Given the description of an element on the screen output the (x, y) to click on. 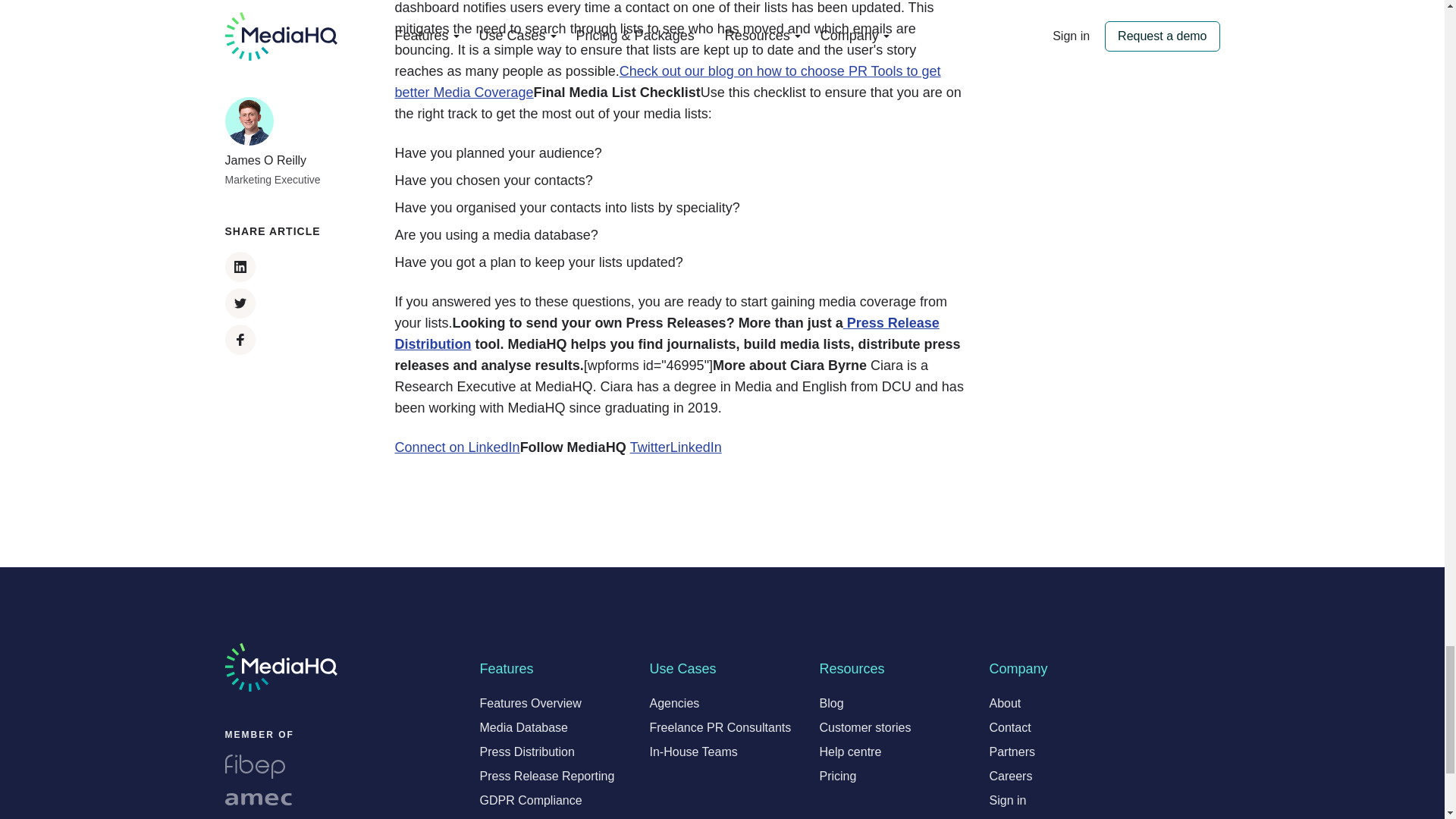
Twitter (649, 447)
Connect on LinkedIn (456, 447)
LinkedIn (695, 447)
Press Release Distribution (666, 333)
